Given the description of an element on the screen output the (x, y) to click on. 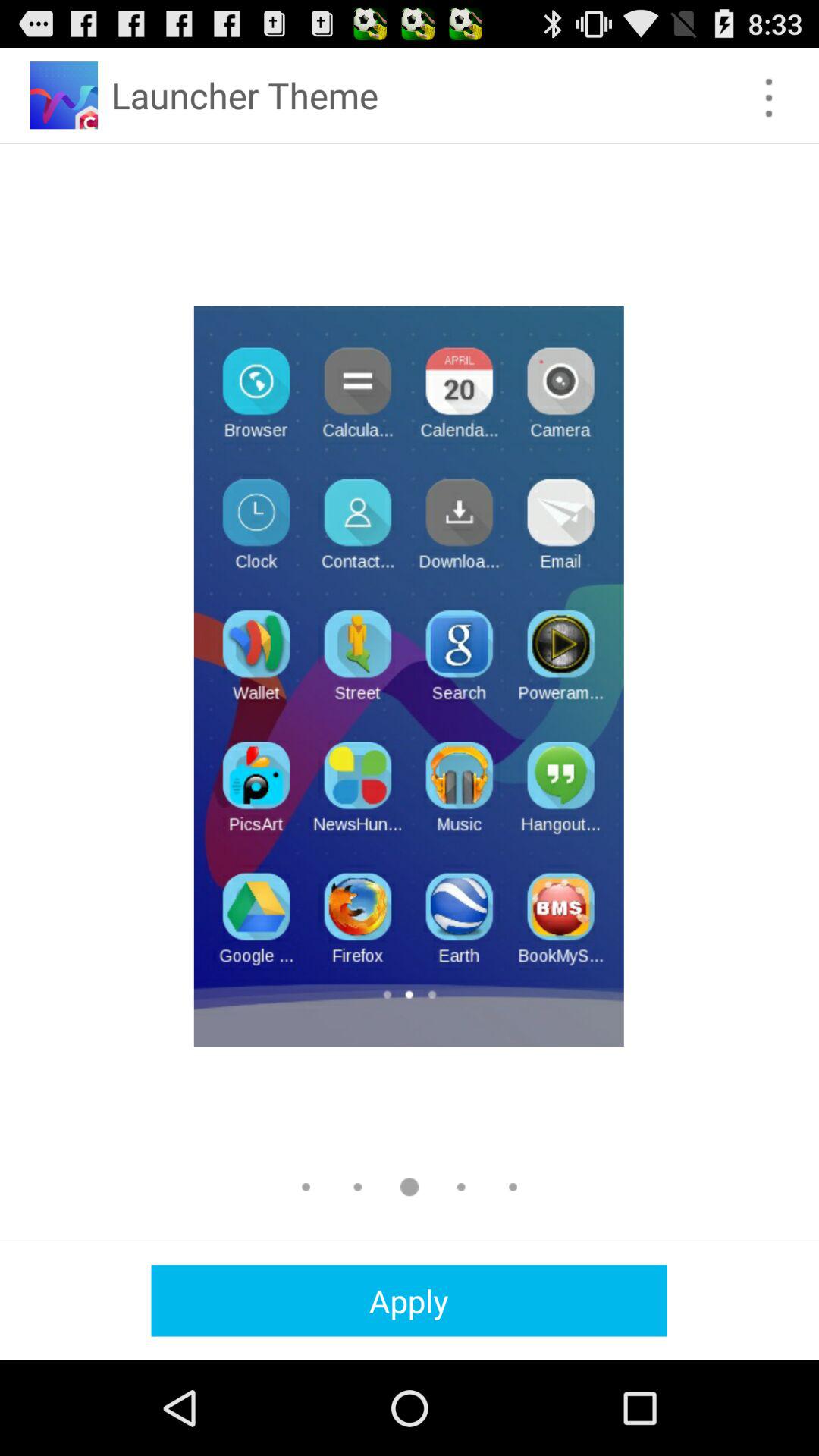
open setting (768, 97)
